Given the description of an element on the screen output the (x, y) to click on. 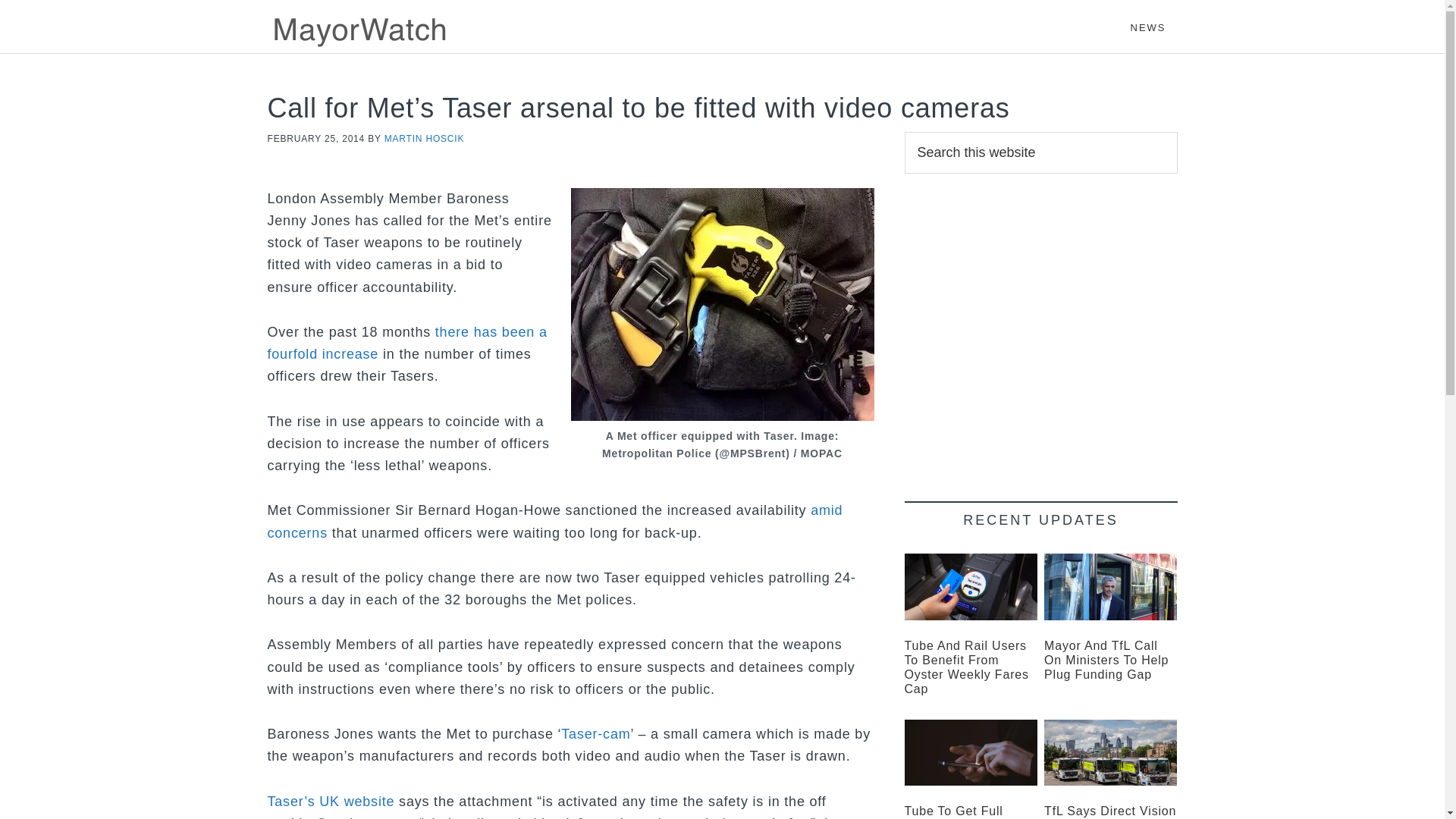
amid concerns (554, 520)
MARTIN HOSCIK (424, 138)
Mayor and TfL call on ministers to help plug funding gap (1109, 586)
Advertisement (1039, 325)
MayorWatch (403, 30)
Tube And Rail Users To Benefit From Oyster Weekly Fares Cap (965, 667)
NEWS (1148, 20)
Tube and rail users to benefit from Oyster weekly fares cap (970, 586)
